Given the description of an element on the screen output the (x, y) to click on. 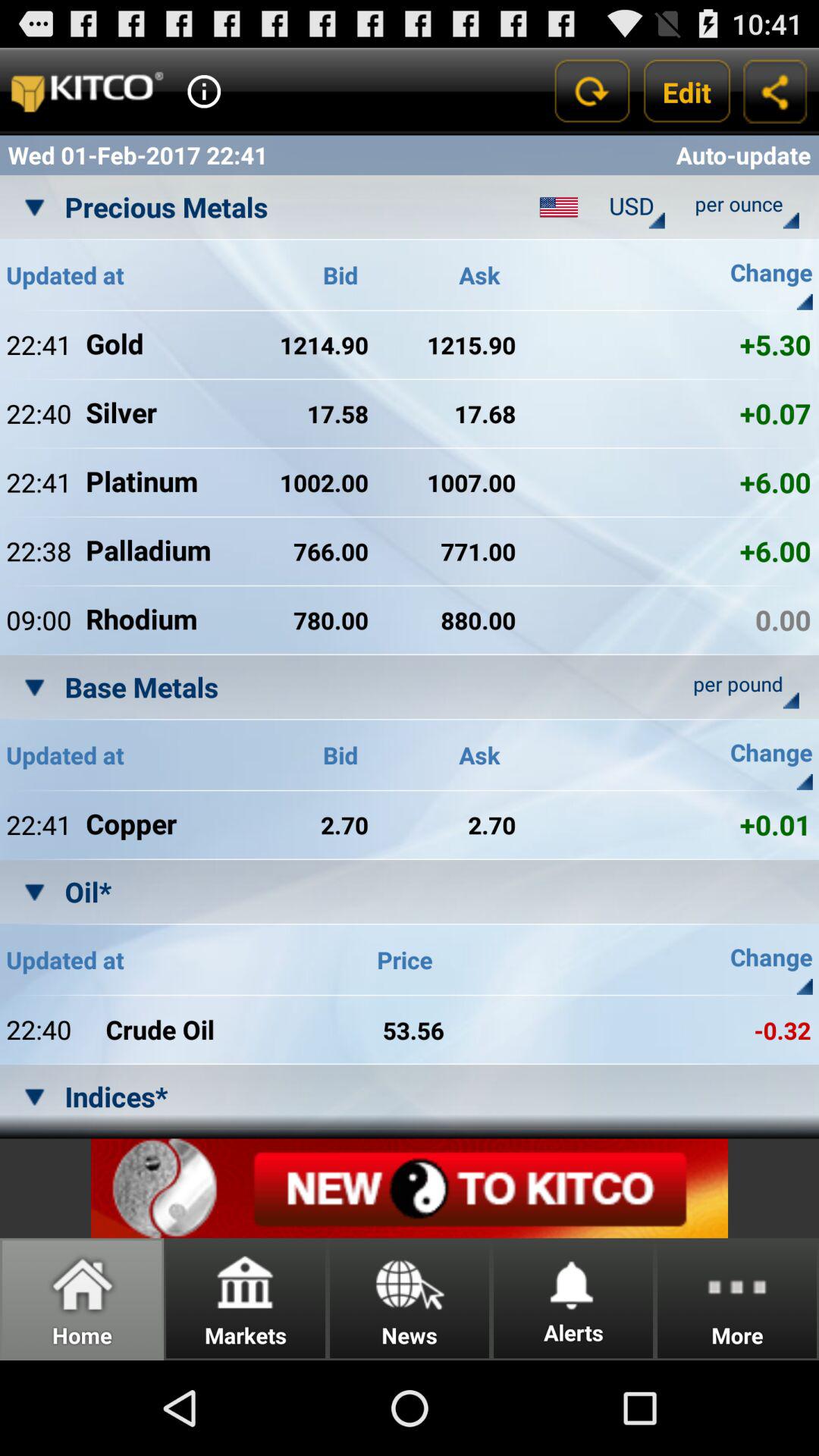
share the information (775, 91)
